Given the description of an element on the screen output the (x, y) to click on. 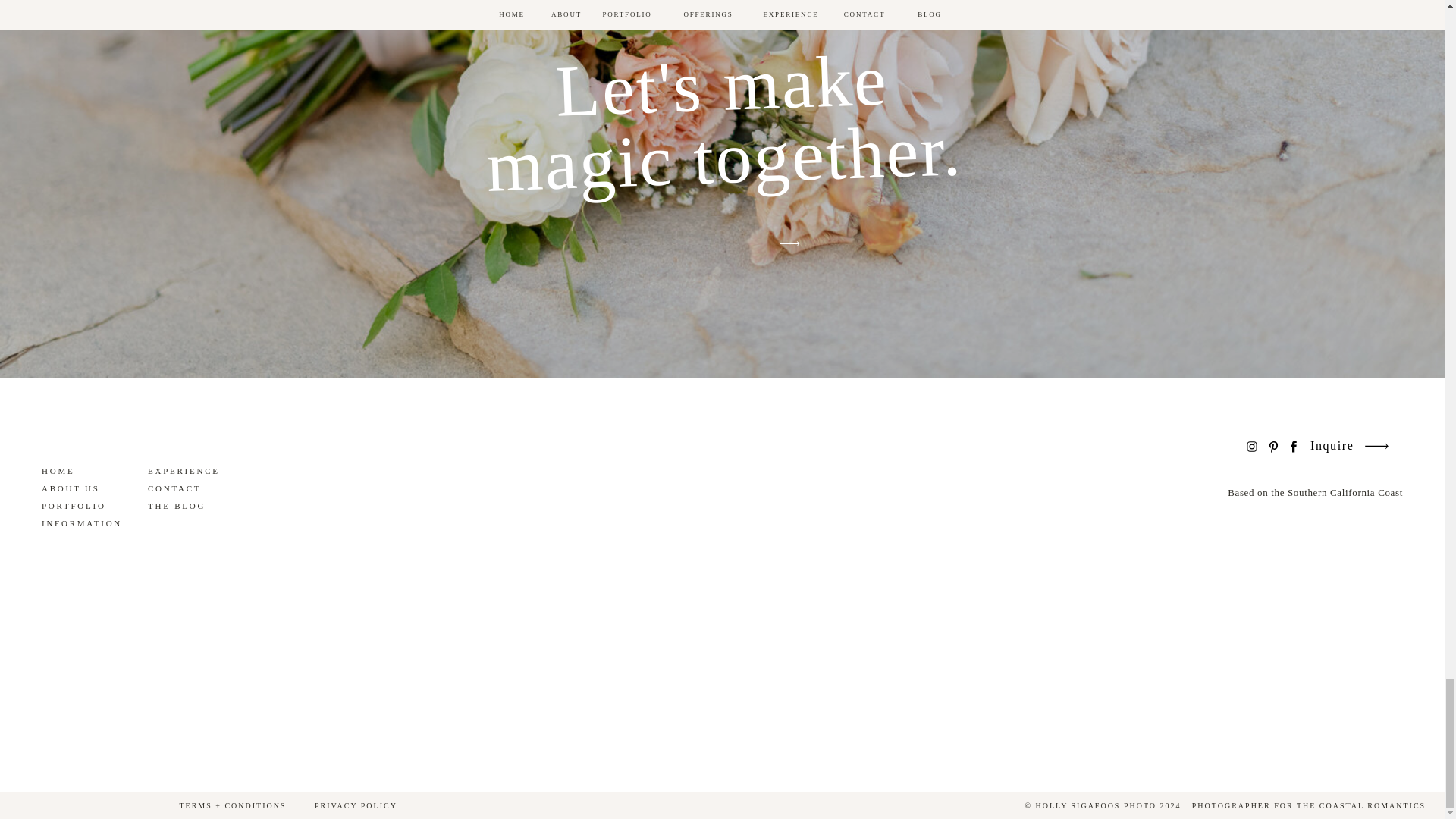
arrow (789, 243)
arrow (1376, 446)
